Given the description of an element on the screen output the (x, y) to click on. 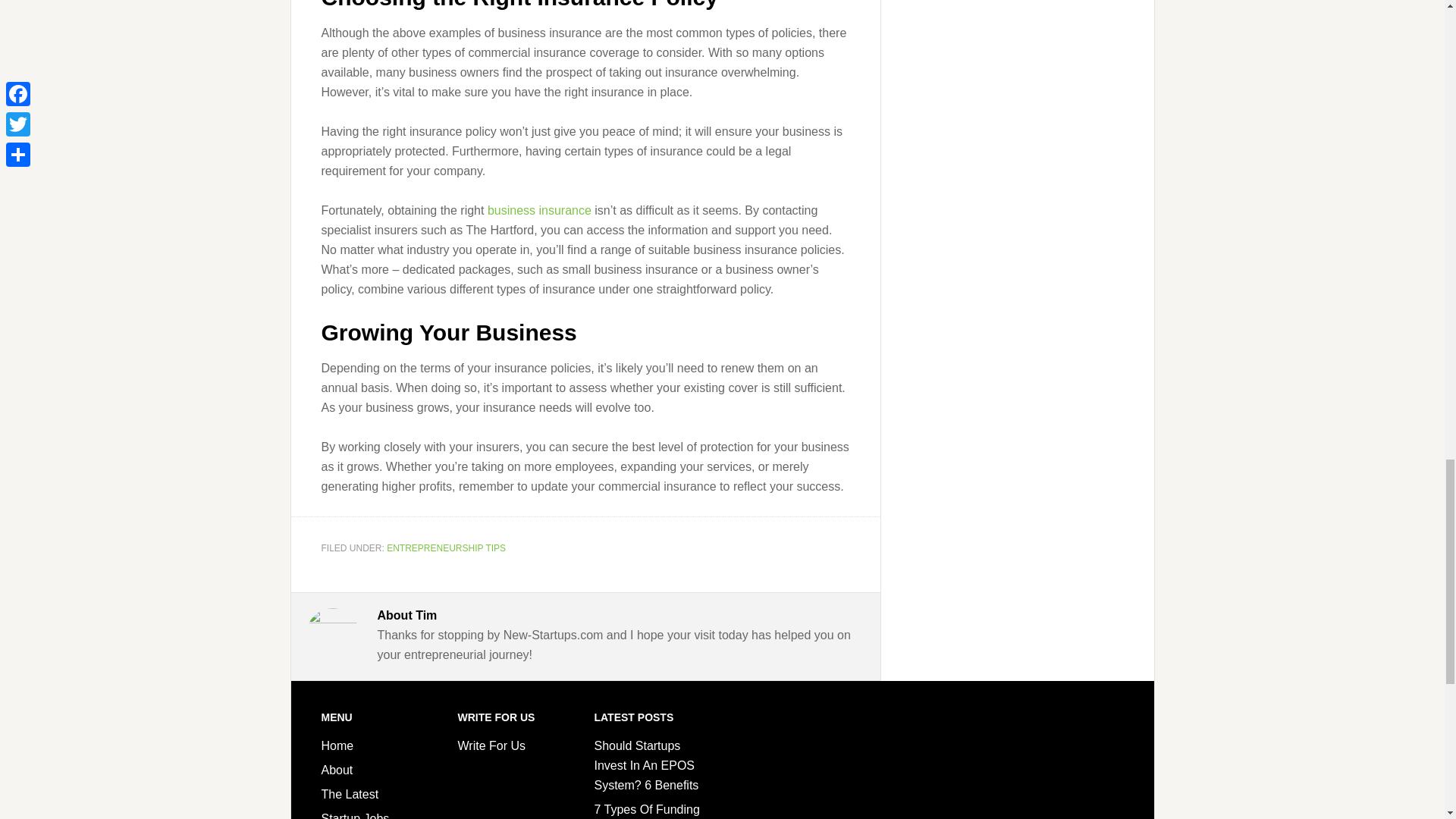
About (337, 769)
The Latest (349, 793)
Home (337, 745)
ENTREPRENEURSHIP TIPS (446, 547)
business insurance (539, 209)
Startup Jobs (355, 815)
